Given the description of an element on the screen output the (x, y) to click on. 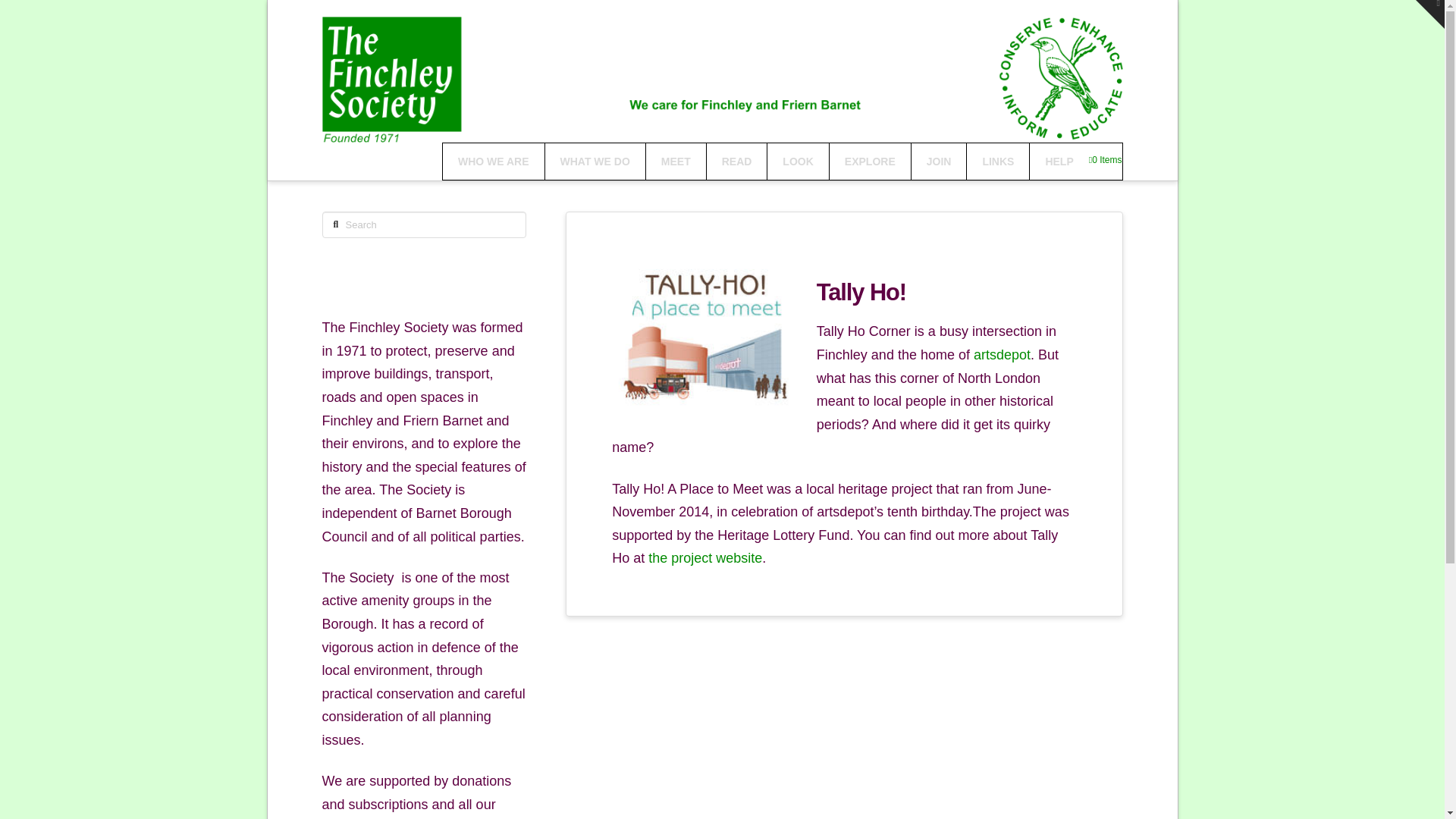
READ (736, 161)
EXPLORE (869, 161)
WHO WE ARE (493, 161)
LOOK (797, 161)
MEET (675, 161)
artsdepot (1002, 354)
HELP (1058, 161)
WHAT WE DO (594, 161)
JOIN (938, 161)
